Given the description of an element on the screen output the (x, y) to click on. 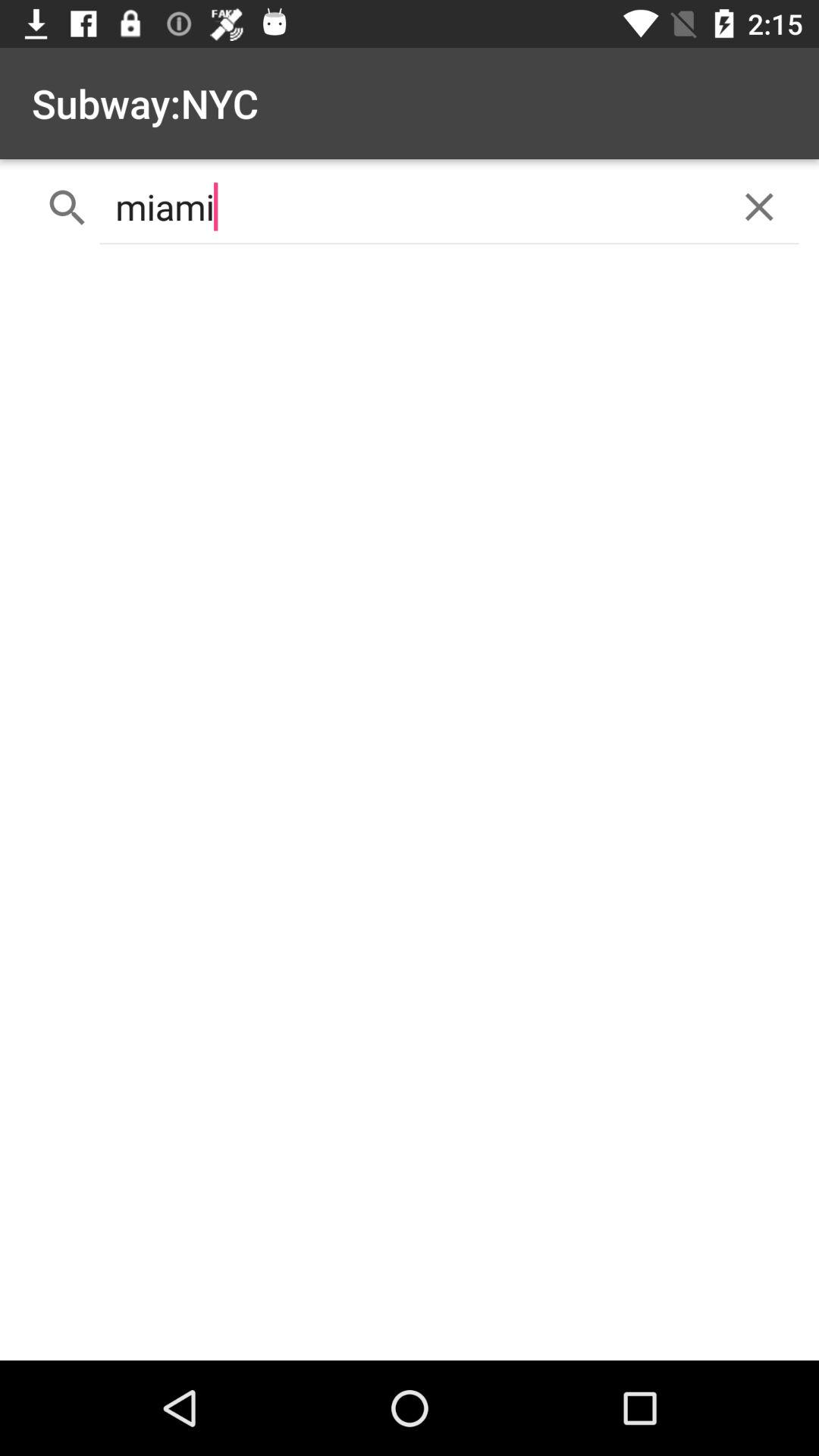
select the icon at the top right corner (759, 206)
